Given the description of an element on the screen output the (x, y) to click on. 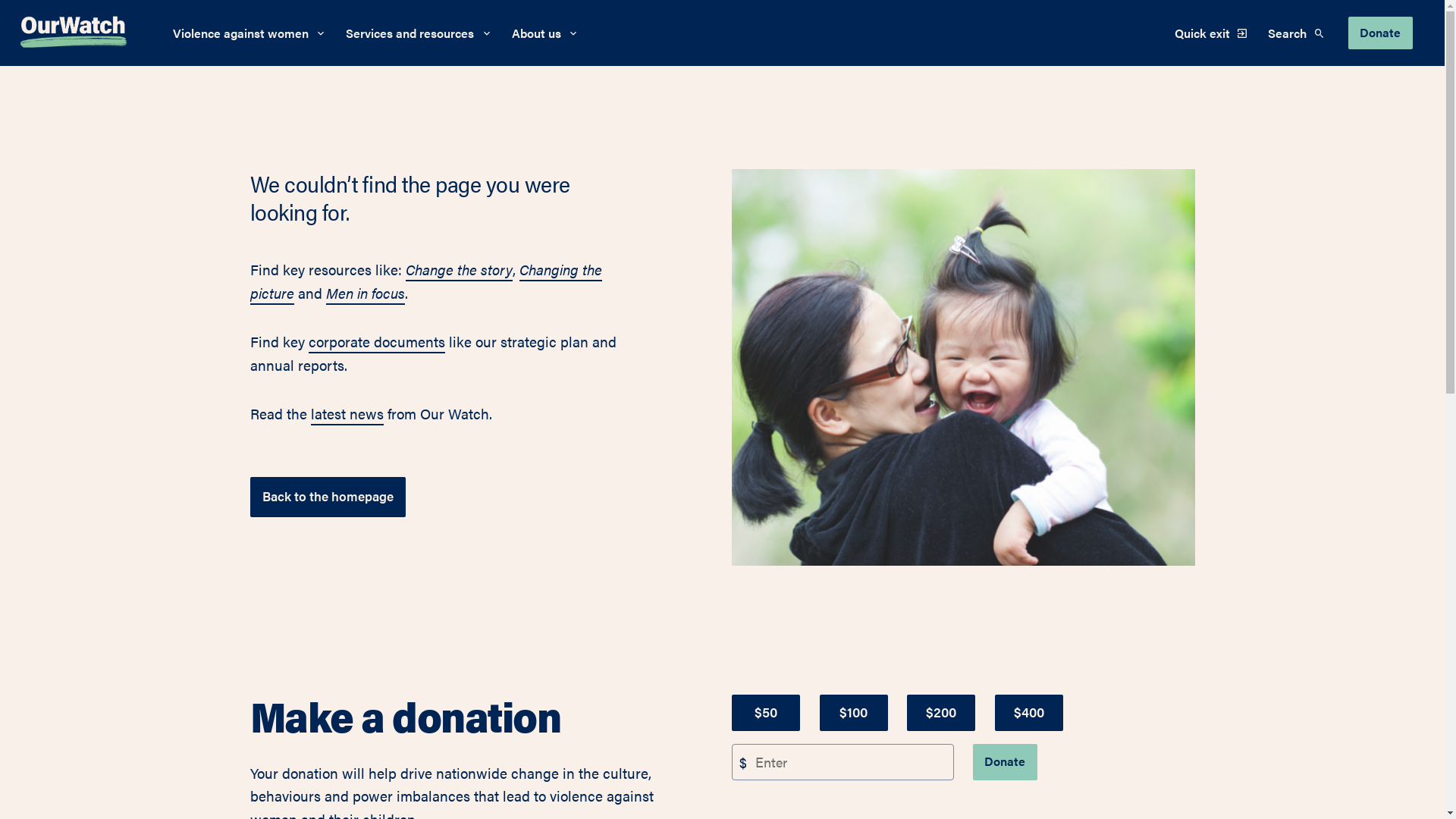
Men in focus Element type: text (365, 293)
Donate Element type: text (1380, 32)
Changing the picture Element type: text (426, 281)
Quick exit Element type: text (1211, 32)
latest news Element type: text (346, 413)
Change the story Element type: text (457, 269)
Back to the homepage Element type: text (327, 496)
Search Element type: text (1298, 33)
Donate Element type: text (1004, 761)
corporate documents Element type: text (375, 341)
